Given the description of an element on the screen output the (x, y) to click on. 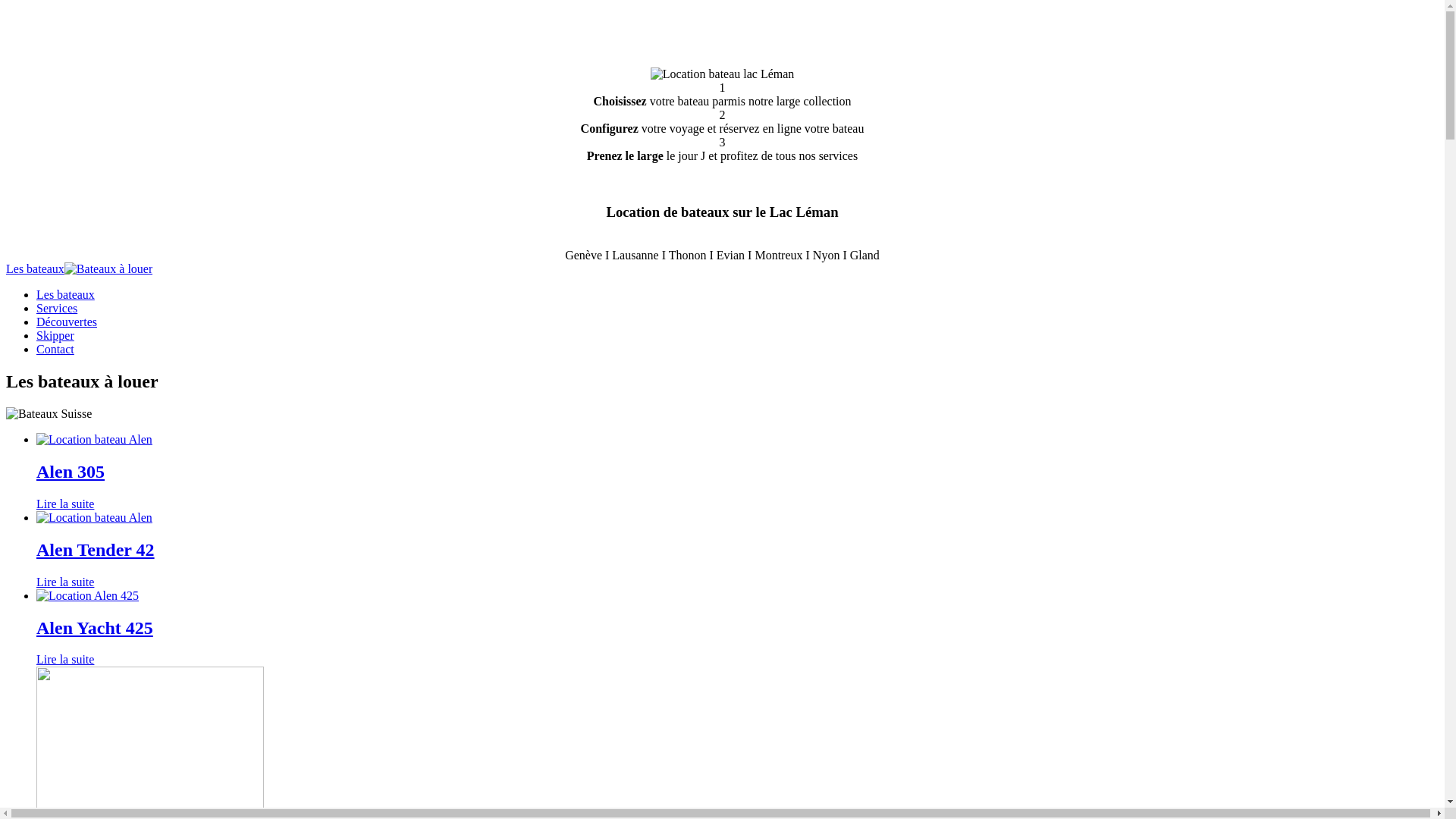
Contact Element type: text (55, 348)
Services Element type: text (56, 307)
Les bateaux Element type: text (35, 268)
Lire la suite Element type: text (65, 658)
Alen Yacht 425 Element type: text (737, 627)
Alen Tender 42 Element type: text (737, 549)
Les bateaux Element type: text (65, 294)
Skipper Element type: text (55, 335)
Alen 305 Element type: text (737, 471)
Lire la suite Element type: text (65, 581)
Lire la suite Element type: text (65, 503)
